Given the description of an element on the screen output the (x, y) to click on. 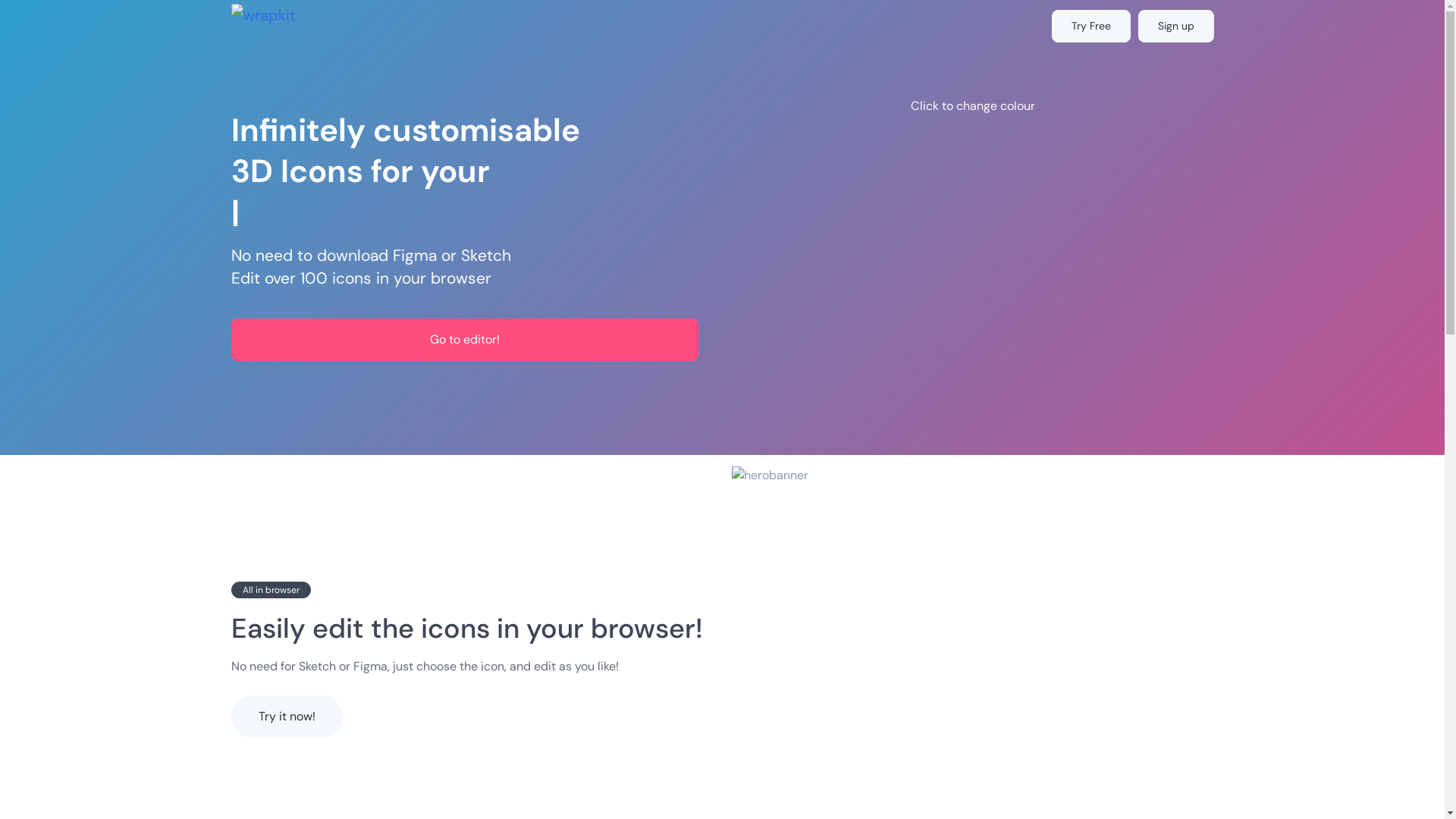
Sign up Element type: text (1175, 25)
Try Free Element type: text (1090, 25)
Try it now! Element type: text (286, 715)
Go to editor! Element type: text (463, 339)
